Given the description of an element on the screen output the (x, y) to click on. 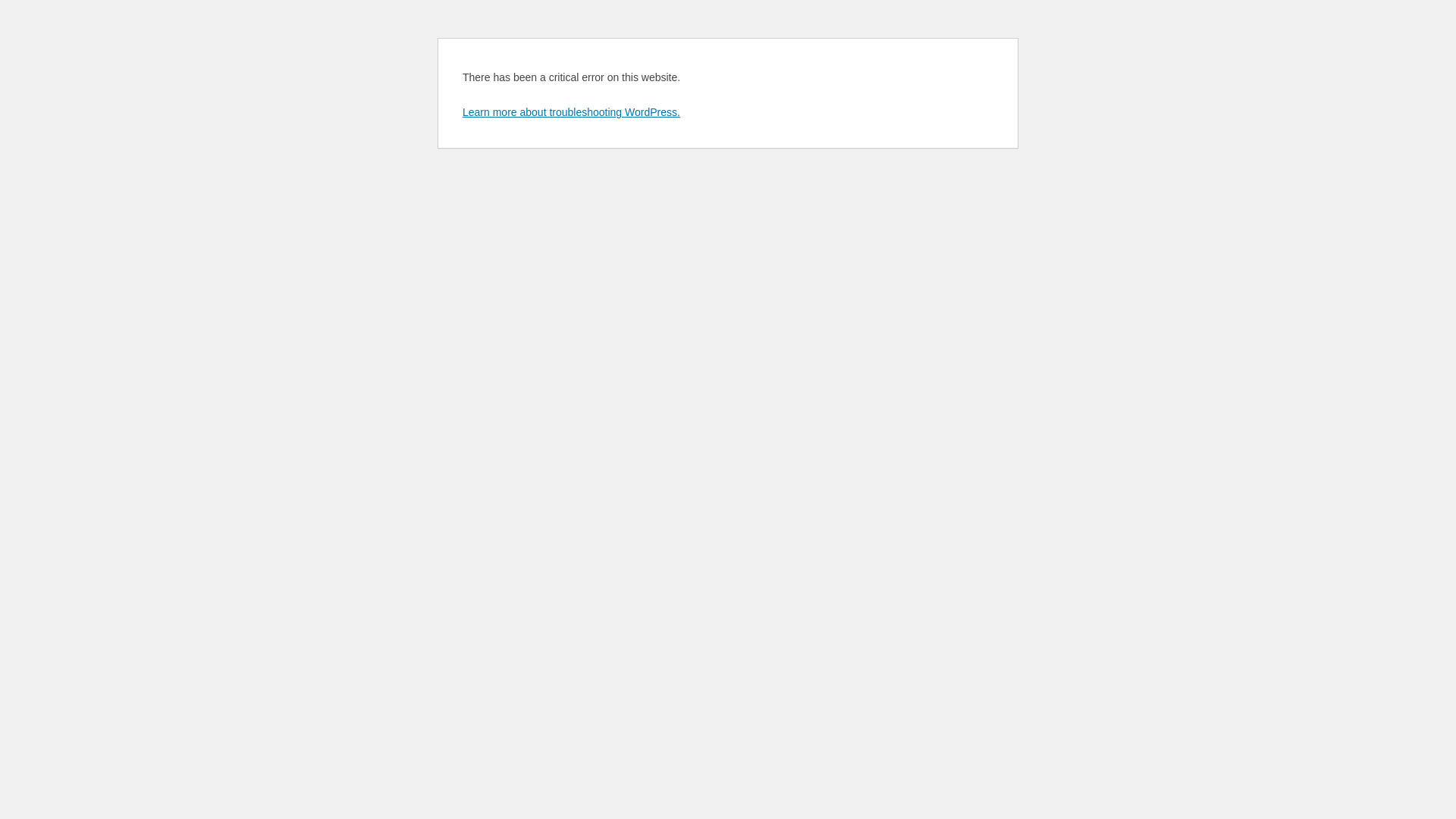
Learn more about troubleshooting WordPress. Element type: text (571, 112)
